Given the description of an element on the screen output the (x, y) to click on. 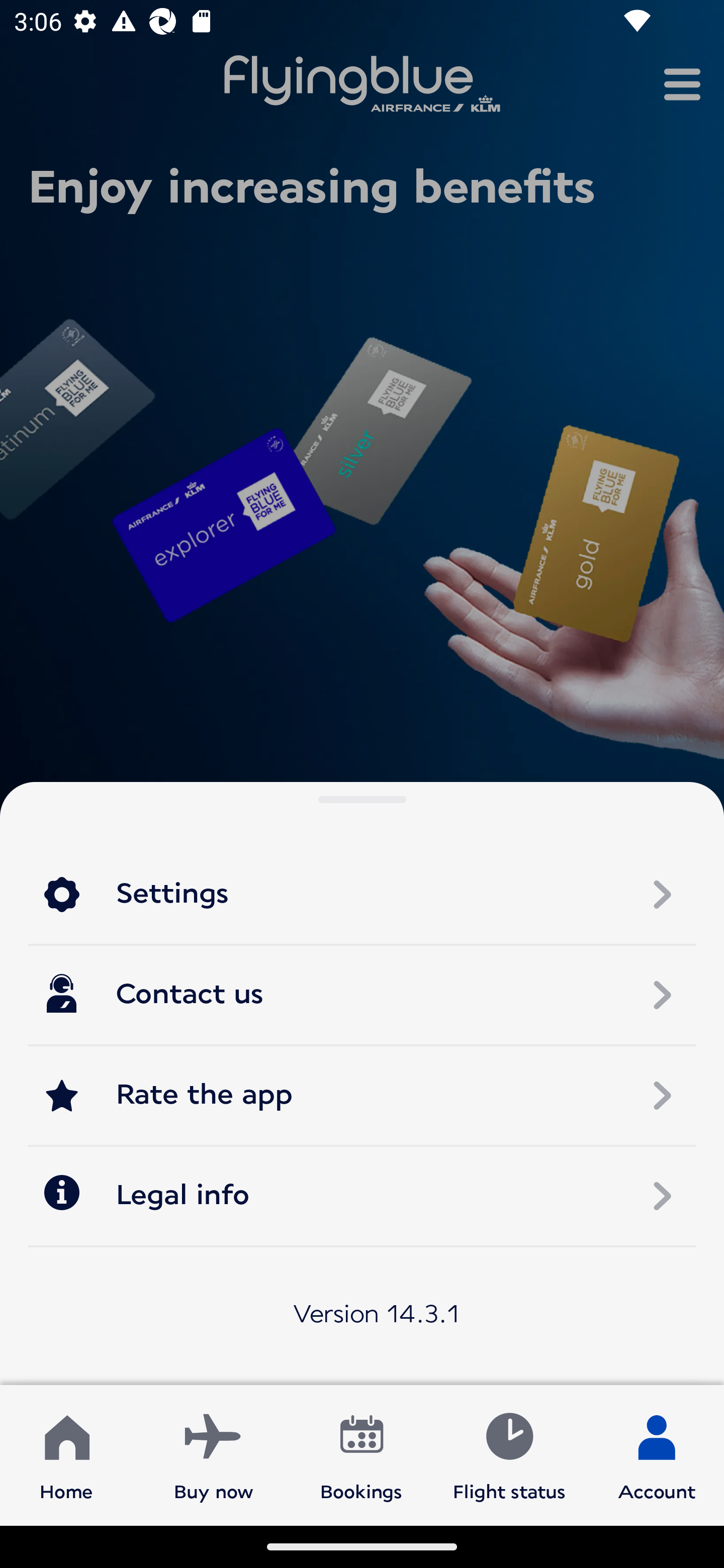
Settings (361, 894)
Contact us (361, 994)
Rate the app (361, 1094)
Legal info (361, 1195)
Home (66, 1454)
Buy now (213, 1454)
Bookings (361, 1454)
Flight status (509, 1454)
